Given the description of an element on the screen output the (x, y) to click on. 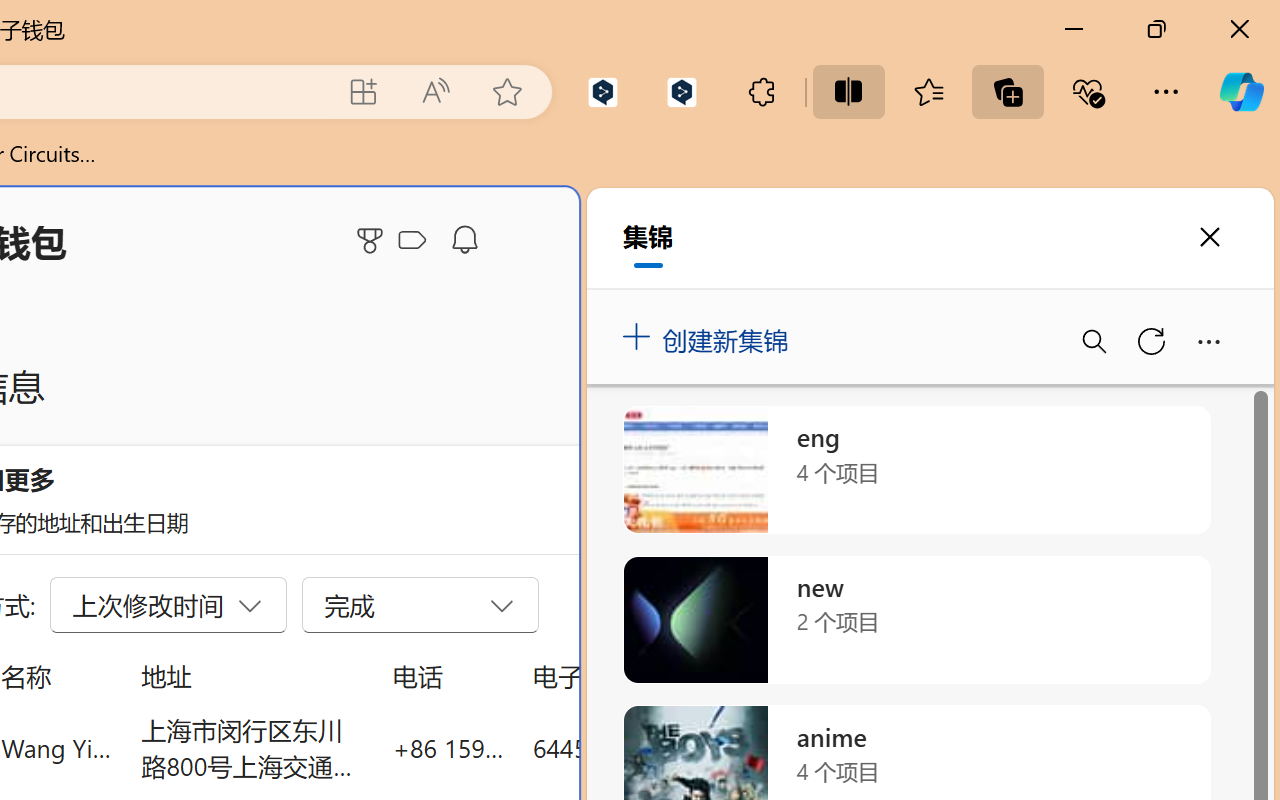
Copilot (Ctrl+Shift+.) (1241, 91)
Microsoft Cashback (415, 241)
Class: ___1lmltc5 f1agt3bx f12qytpq (411, 241)
